Given the description of an element on the screen output the (x, y) to click on. 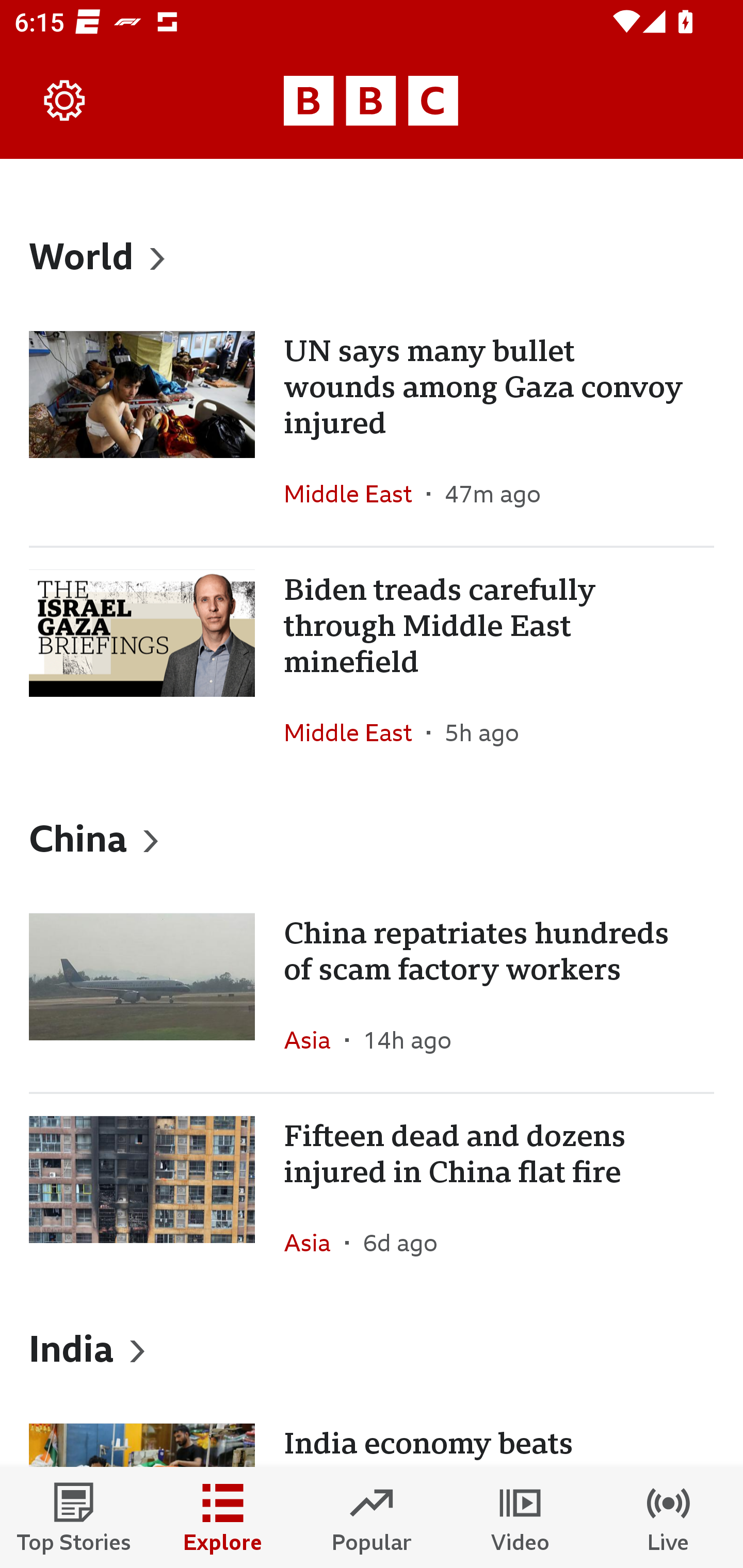
Settings (64, 100)
World, Heading World    (371, 255)
Middle East In the section Middle East (354, 493)
Middle East In the section Middle East (354, 732)
China, Heading China    (371, 837)
Asia In the section Asia (314, 1039)
Asia In the section Asia (314, 1242)
India, Heading India    (371, 1348)
Top Stories (74, 1517)
Popular (371, 1517)
Video (519, 1517)
Live (668, 1517)
